Given the description of an element on the screen output the (x, y) to click on. 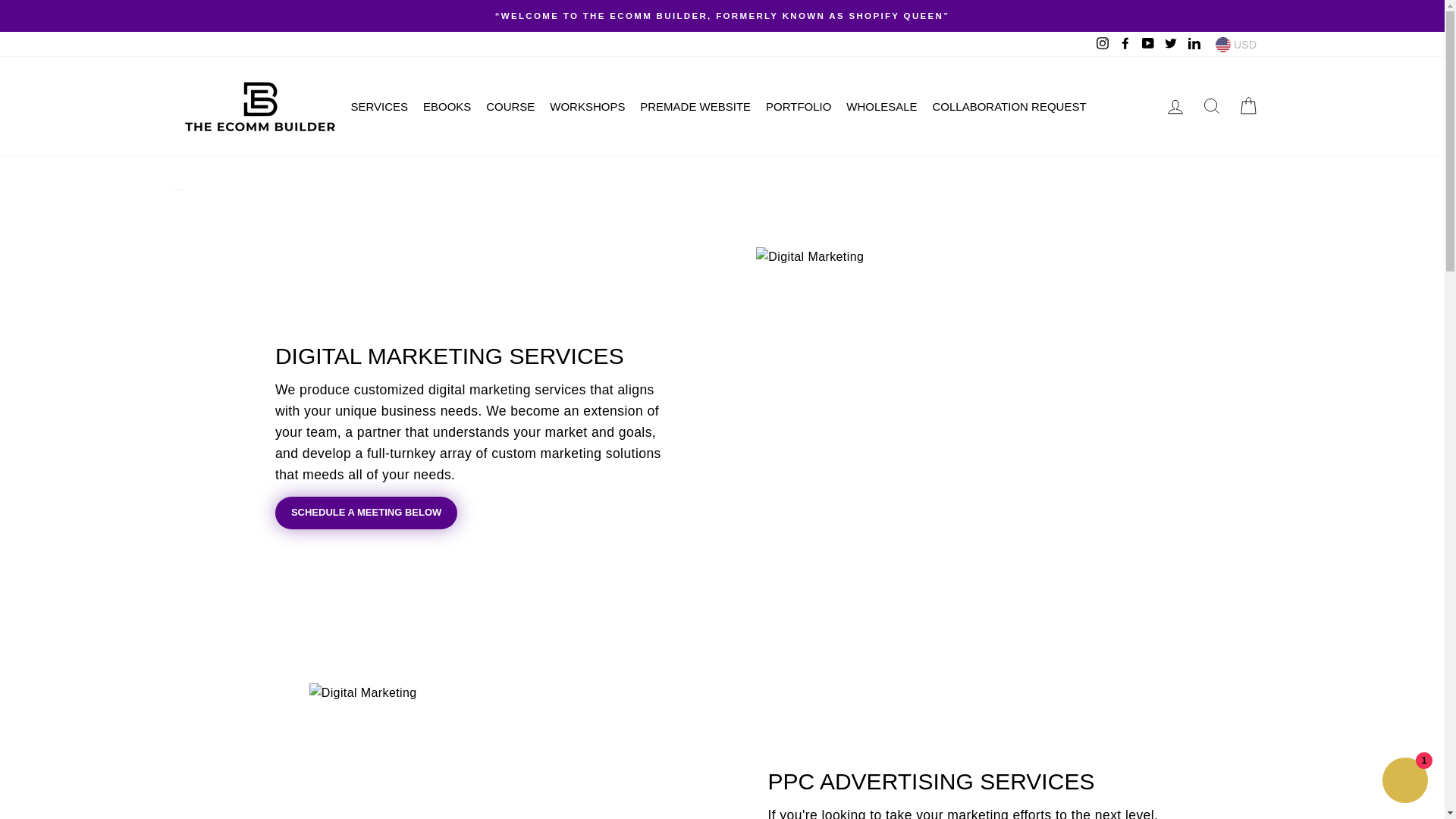
USD (1236, 44)
Shopify online store chat (1404, 781)
EBOOKS (452, 106)
SERVICES (384, 106)
